Given the description of an element on the screen output the (x, y) to click on. 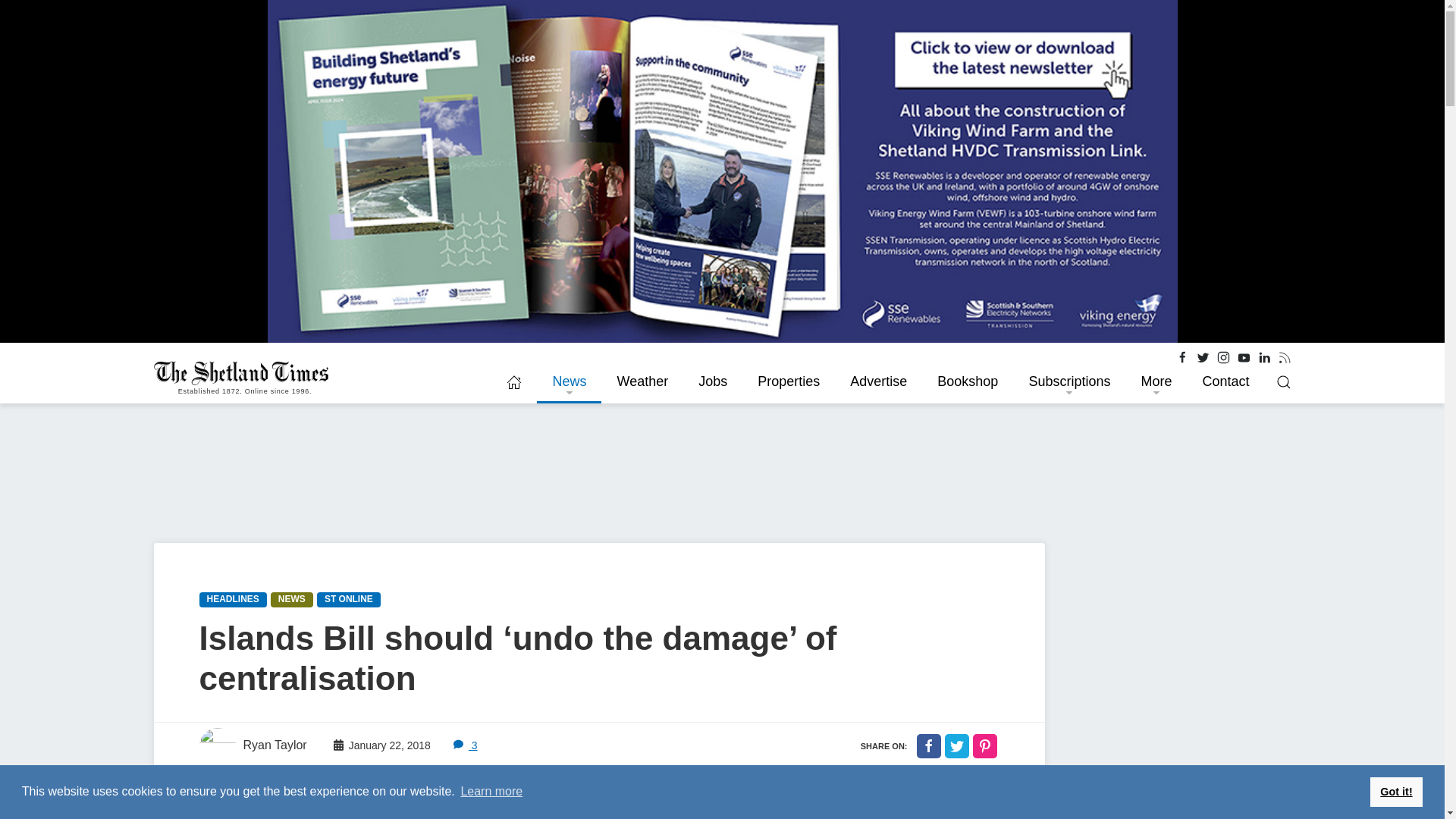
3rd party ad content (1176, 637)
Subscriptions (1069, 382)
Bookshop (967, 382)
Contact (1224, 382)
3rd party ad content (1176, 787)
More (1155, 382)
Jobs (712, 382)
Got it! (1396, 791)
Learn more (491, 791)
Weather (641, 382)
Properties (788, 382)
Advertise (877, 382)
3rd party ad content (579, 475)
News (569, 382)
Established 1872. Online since 1996. (244, 373)
